Given the description of an element on the screen output the (x, y) to click on. 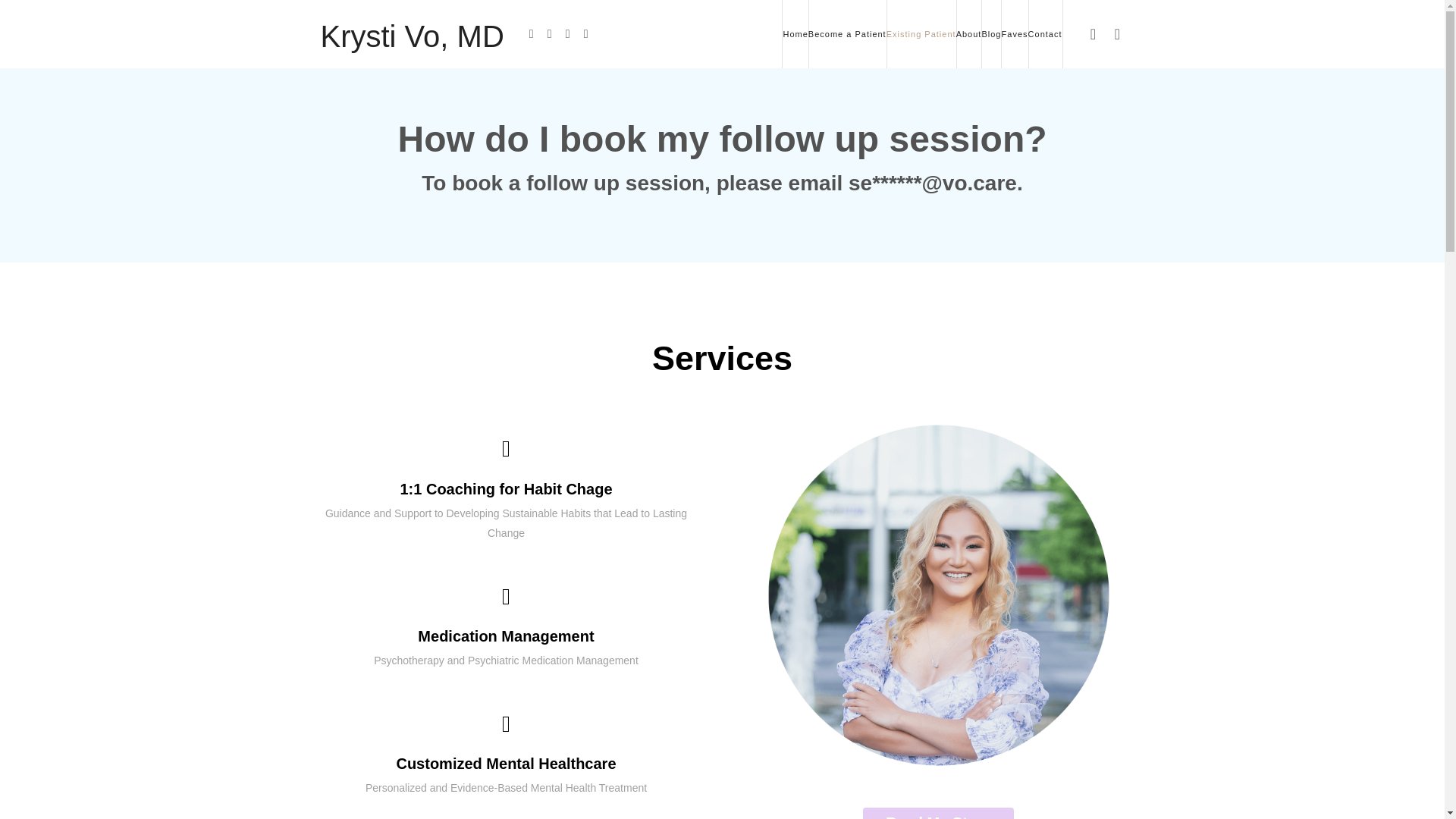
Existing Patient (921, 33)
Read My Story (938, 813)
1:1 Coaching for Habit Chage (504, 488)
Krysti Vo, MD (411, 33)
Become a Patient (847, 33)
